Given the description of an element on the screen output the (x, y) to click on. 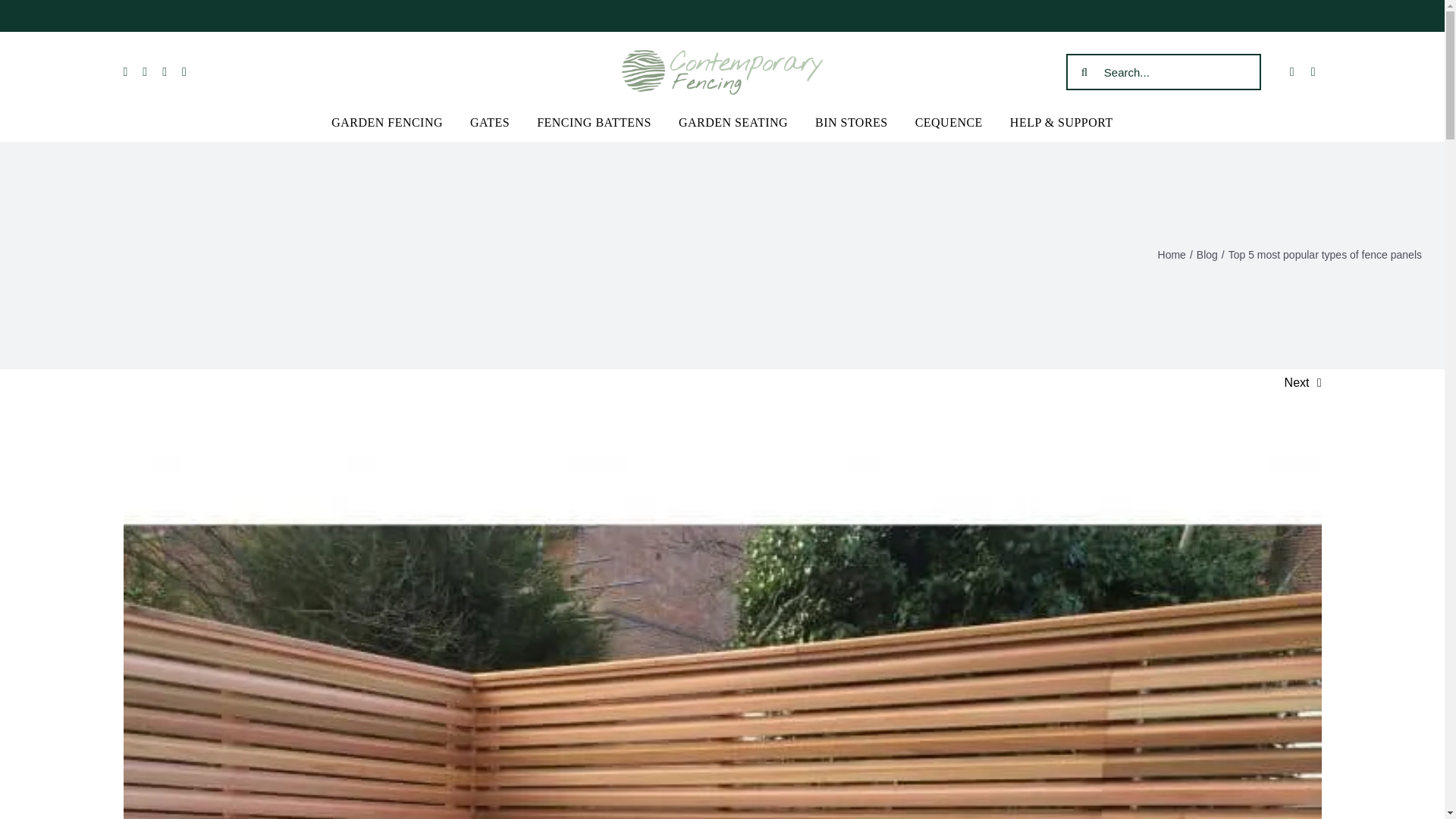
FENCING BATTENS (593, 122)
BIN STORES (851, 122)
GARDEN SEATING (732, 122)
GARDEN FENCING (386, 122)
CEQUENCE (948, 122)
GATES (489, 122)
